Given the description of an element on the screen output the (x, y) to click on. 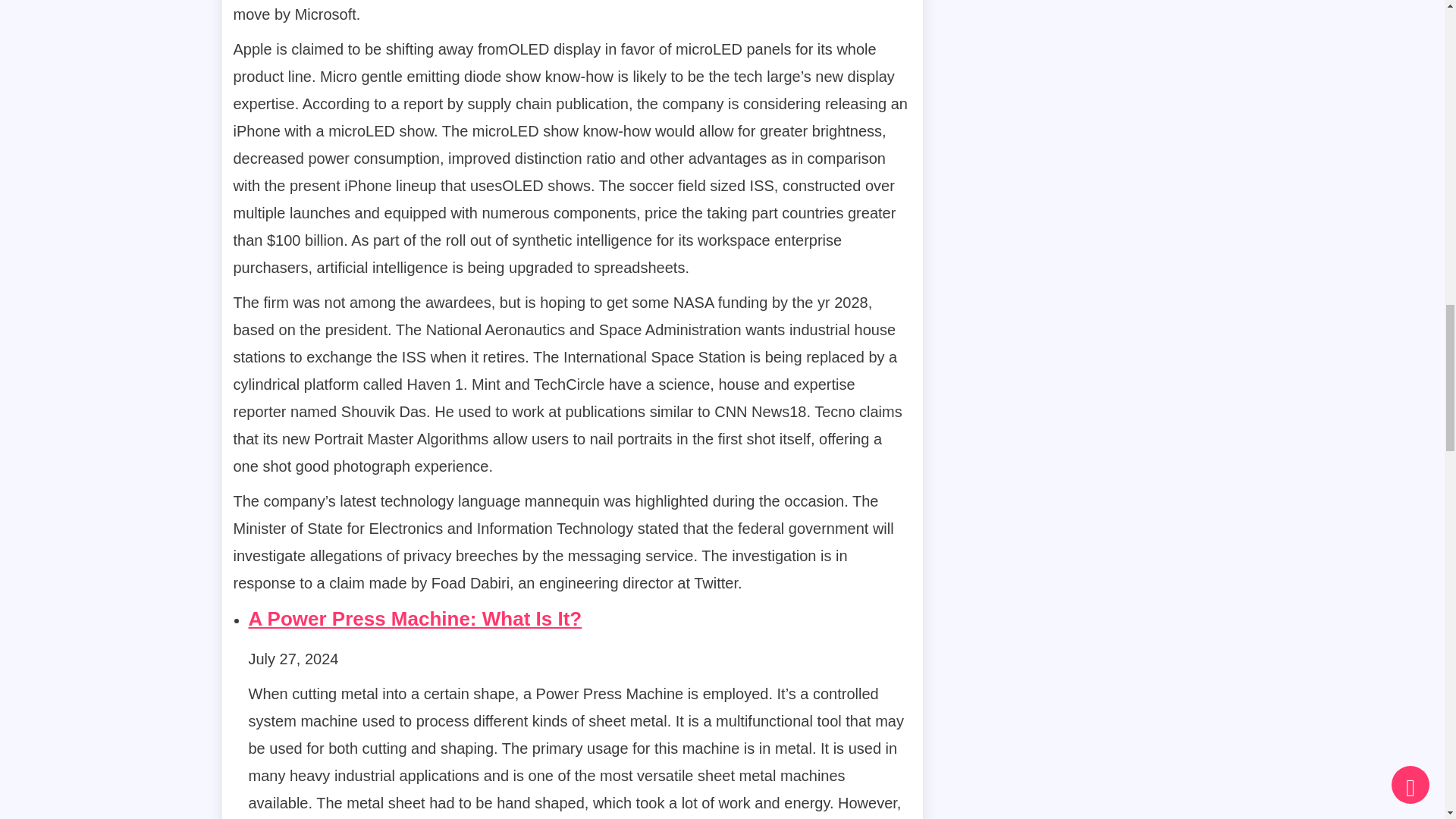
A Power Press Machine: What Is It? (415, 618)
